Given the description of an element on the screen output the (x, y) to click on. 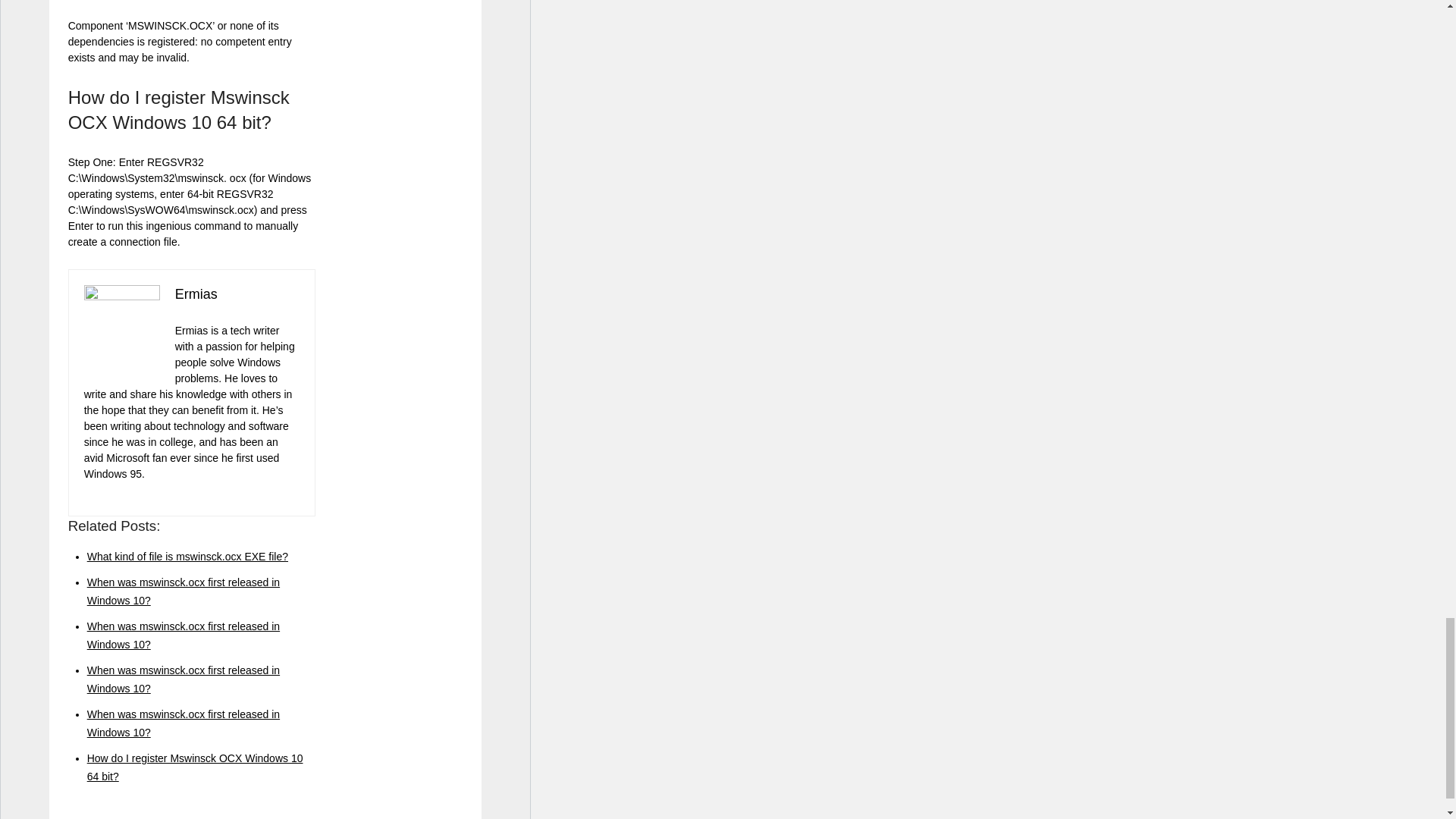
When was mswinsck.ocx first released in Windows 10? (183, 723)
Ermias (195, 294)
When was mswinsck.ocx first released in Windows 10? (183, 634)
When was mswinsck.ocx first released in Windows 10? (183, 679)
How do I register Mswinsck OCX Windows 10 64 bit? (194, 767)
What kind of file is mswinsck.ocx EXE file? (187, 556)
When was mswinsck.ocx first released in Windows 10? (183, 591)
